Given the description of an element on the screen output the (x, y) to click on. 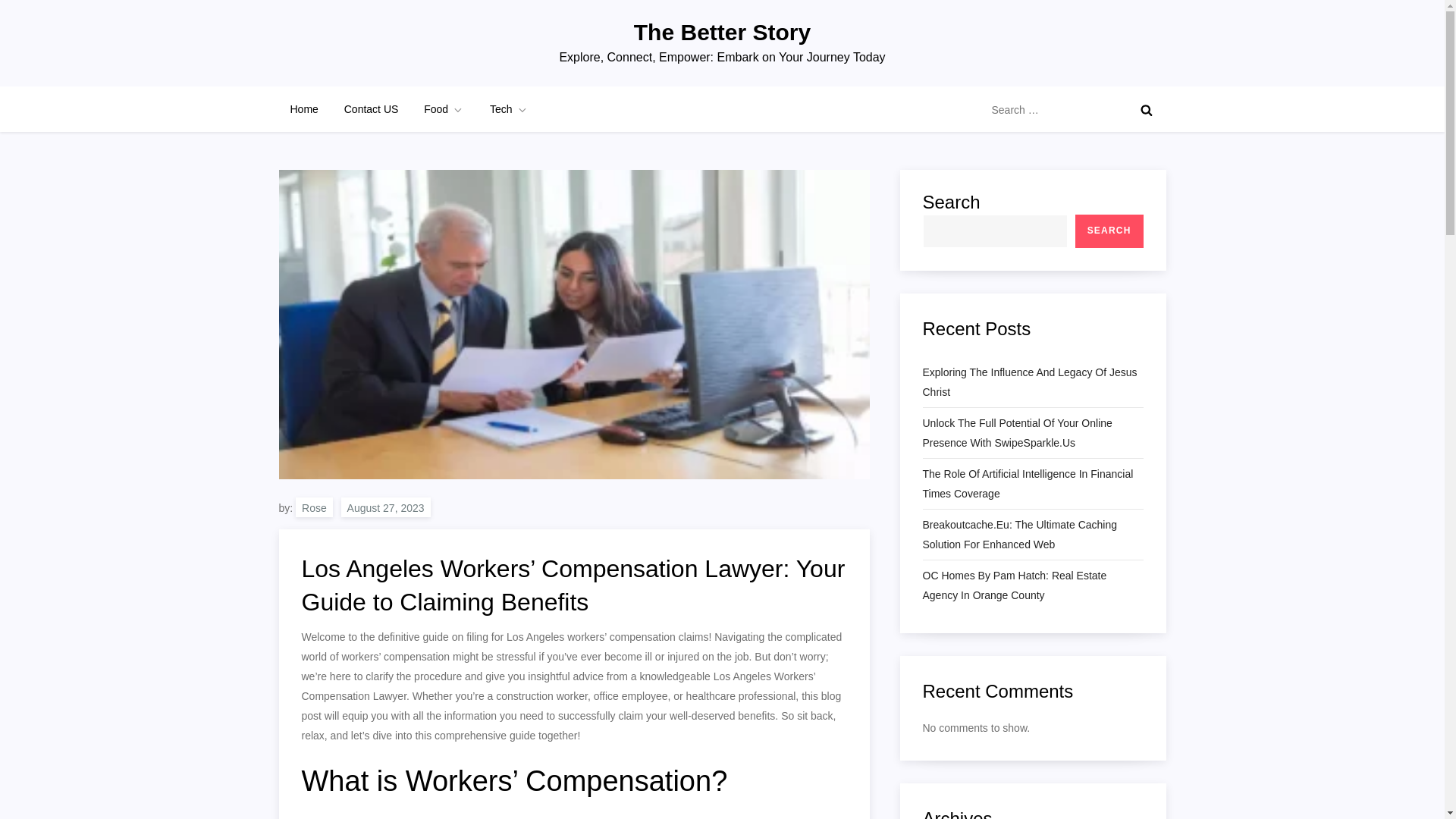
Home (304, 108)
Food (444, 108)
OC Homes By Pam Hatch: Real Estate Agency In Orange County (1031, 585)
Tech (509, 108)
Exploring The Influence And Legacy Of Jesus Christ (1031, 382)
Contact US (371, 108)
The Better Story (721, 32)
